Given the description of an element on the screen output the (x, y) to click on. 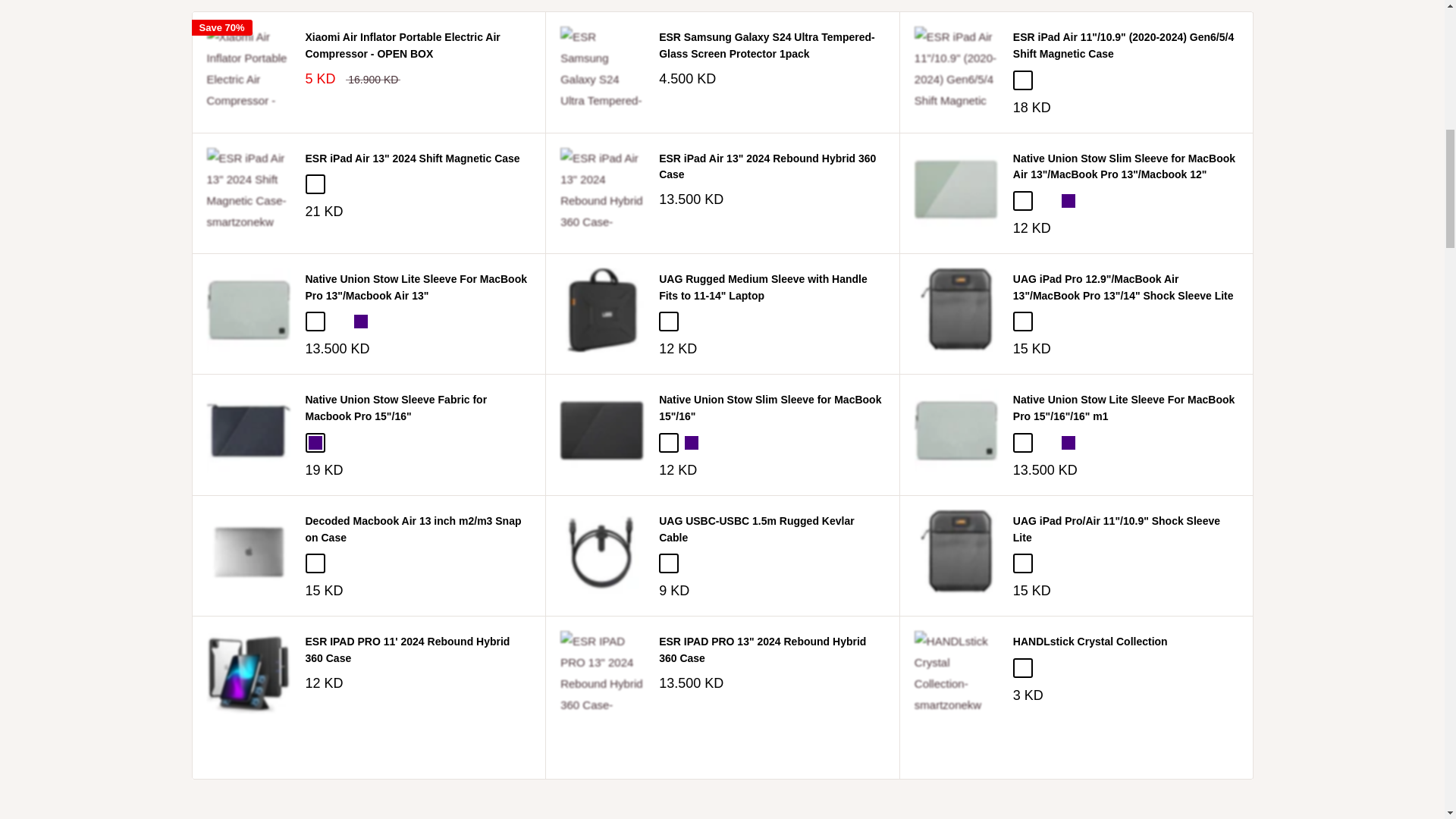
Black (1045, 321)
Slate (336, 442)
Black (1022, 79)
Indigo (314, 442)
Blue (336, 183)
Slate (1045, 201)
Blue (1045, 79)
Sage (1022, 201)
Black (314, 183)
Indigo (359, 321)
